Given the description of an element on the screen output the (x, y) to click on. 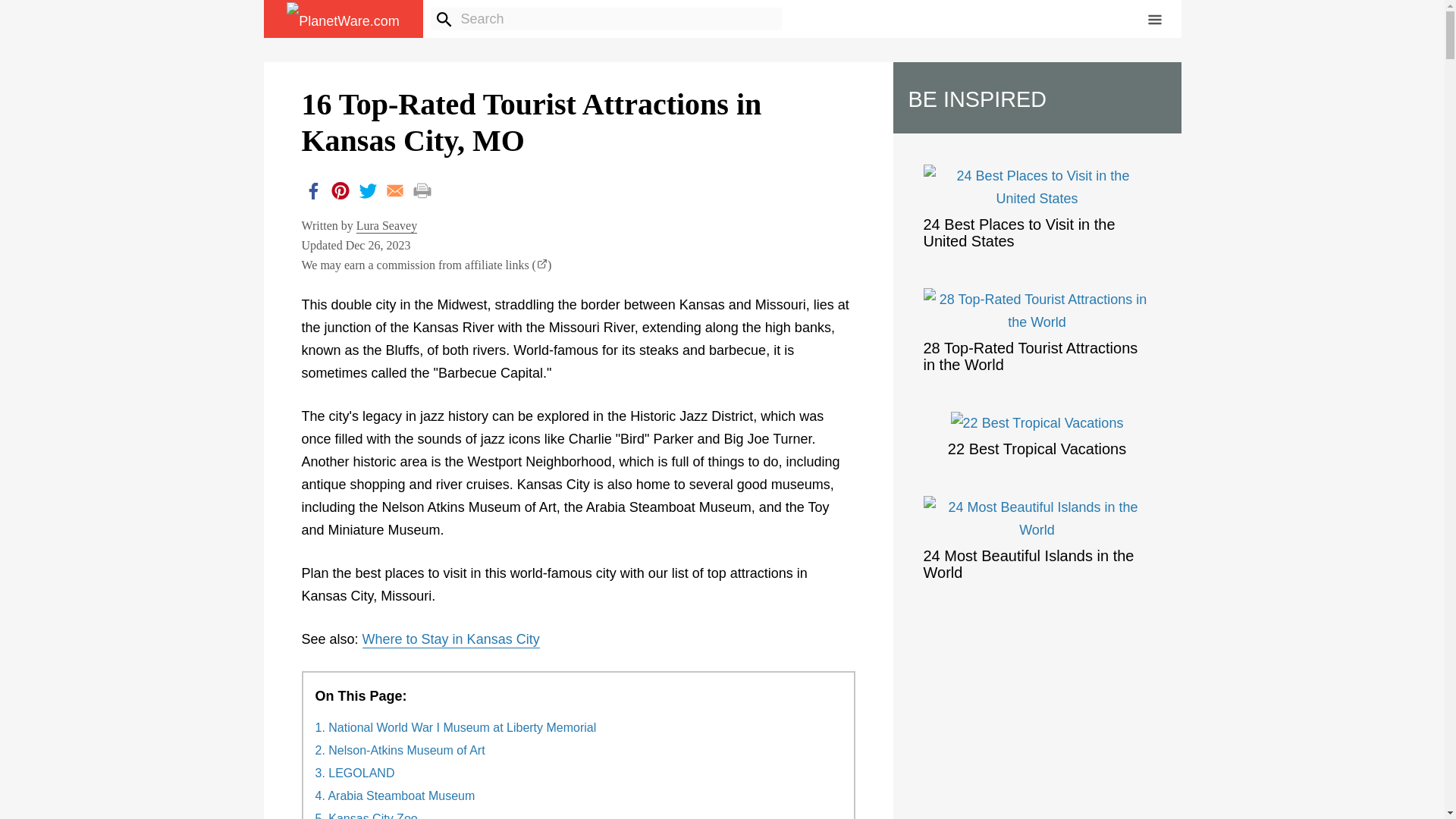
4. Arabia Steamboat Museum (395, 796)
1. National World War I Museum at Liberty Memorial (455, 727)
Lura Seavey (386, 226)
3. LEGOLAND (354, 773)
Where to Stay in Kansas City (451, 639)
5. Kansas City Zoo (366, 815)
2. Nelson-Atkins Museum of Art (399, 750)
